Given the description of an element on the screen output the (x, y) to click on. 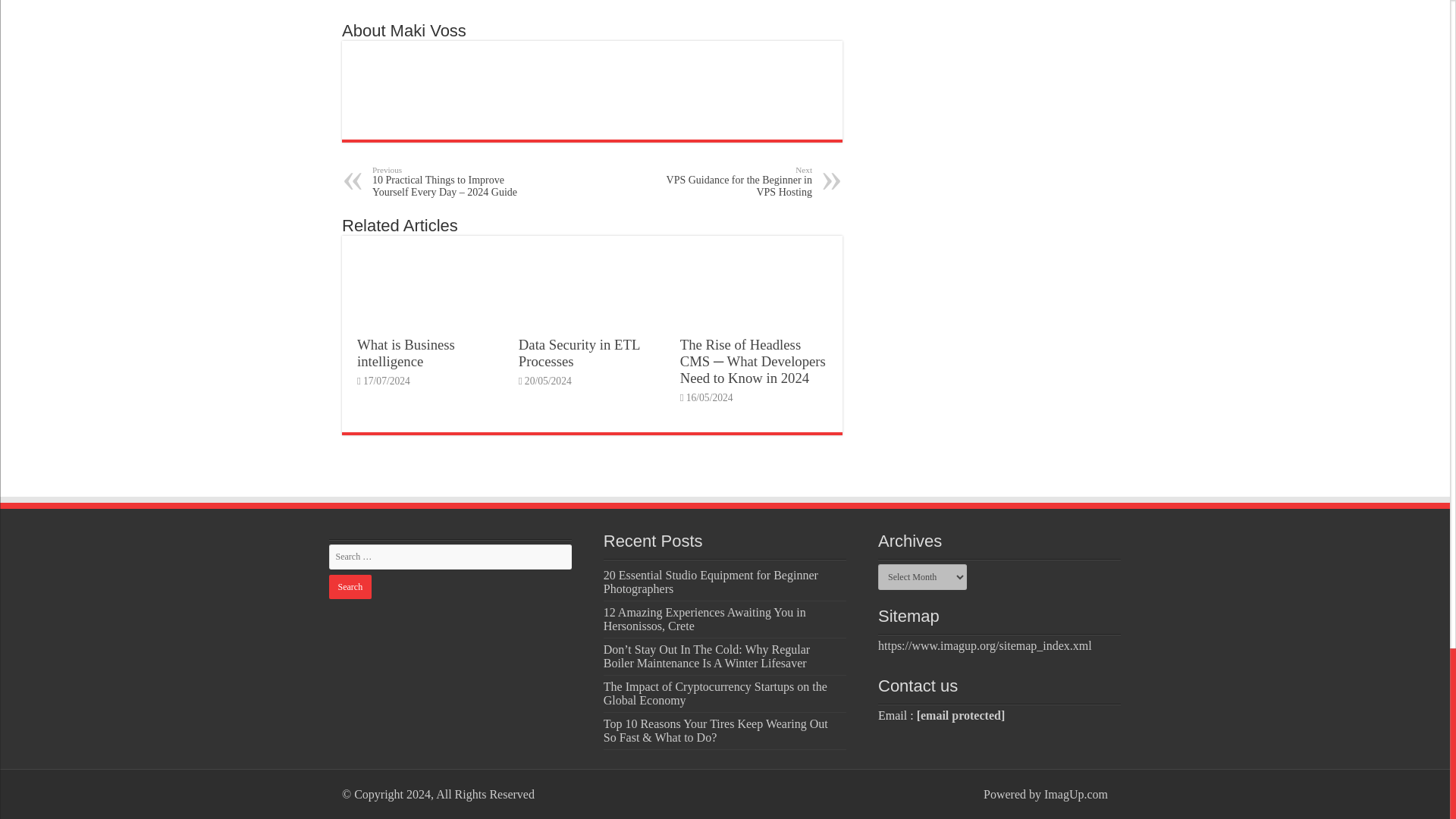
Search (350, 586)
Search (350, 586)
